Given the description of an element on the screen output the (x, y) to click on. 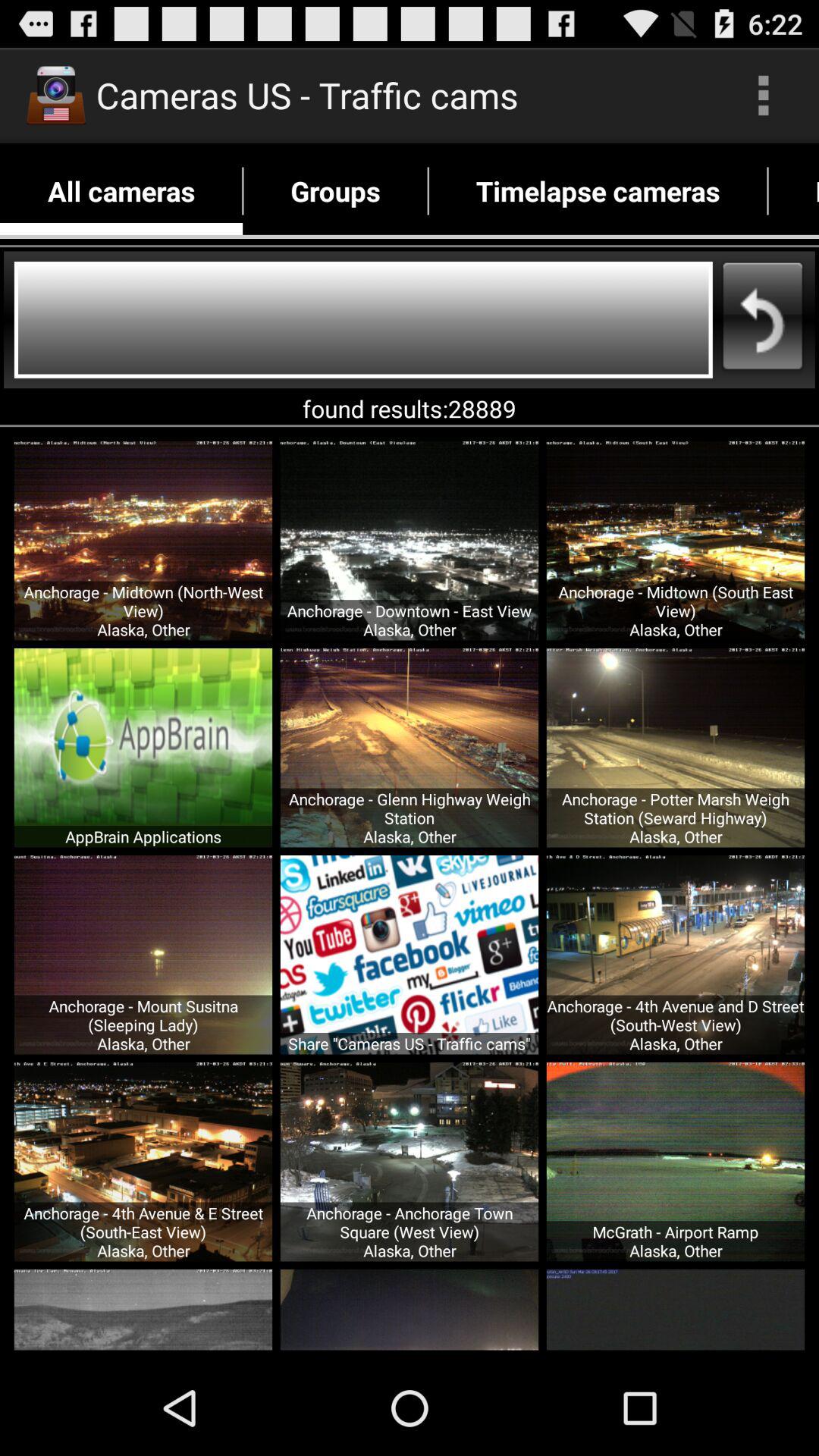
launch icon to the right of all cameras icon (335, 190)
